Given the description of an element on the screen output the (x, y) to click on. 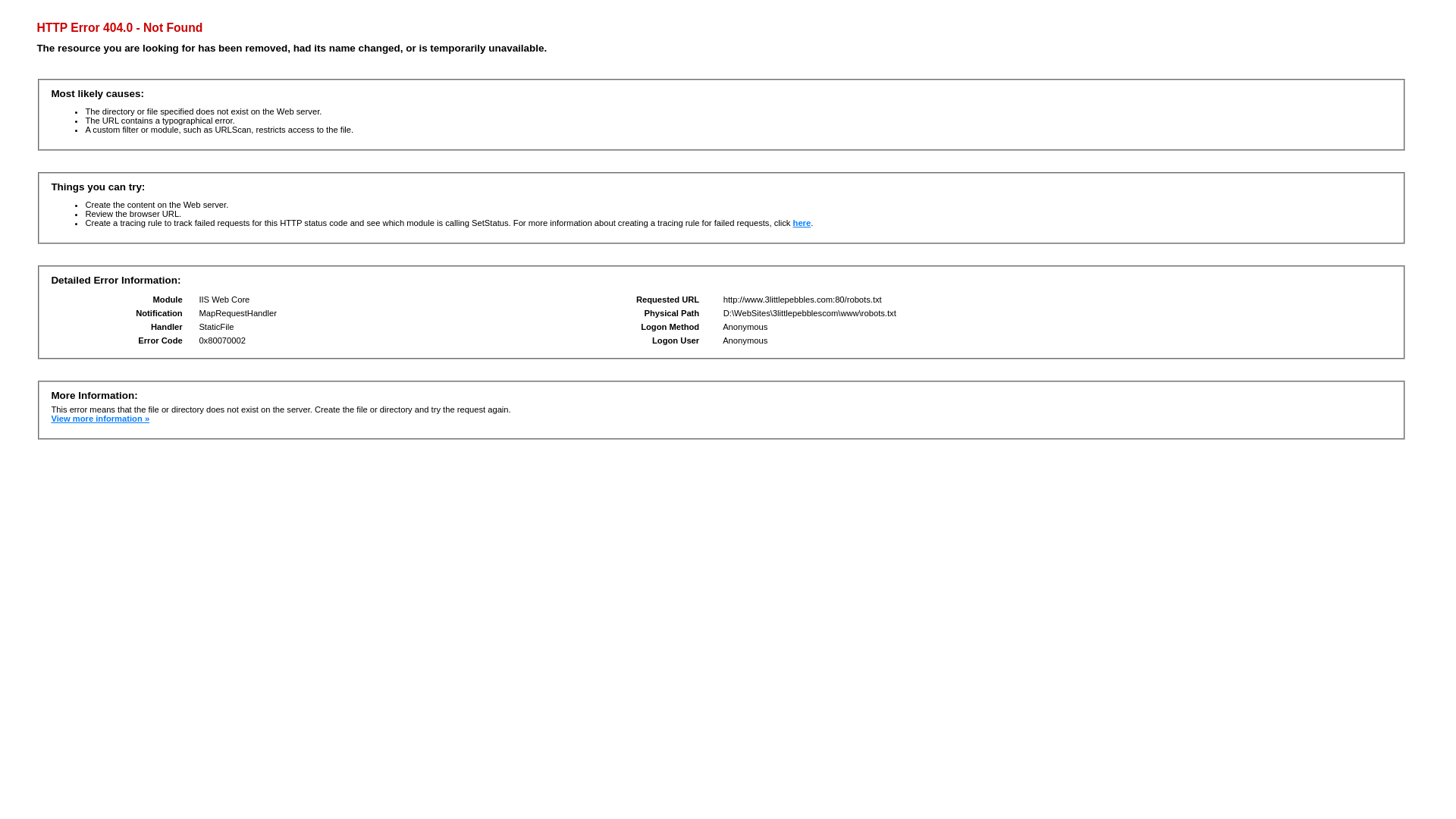
here Element type: text (802, 222)
